Given the description of an element on the screen output the (x, y) to click on. 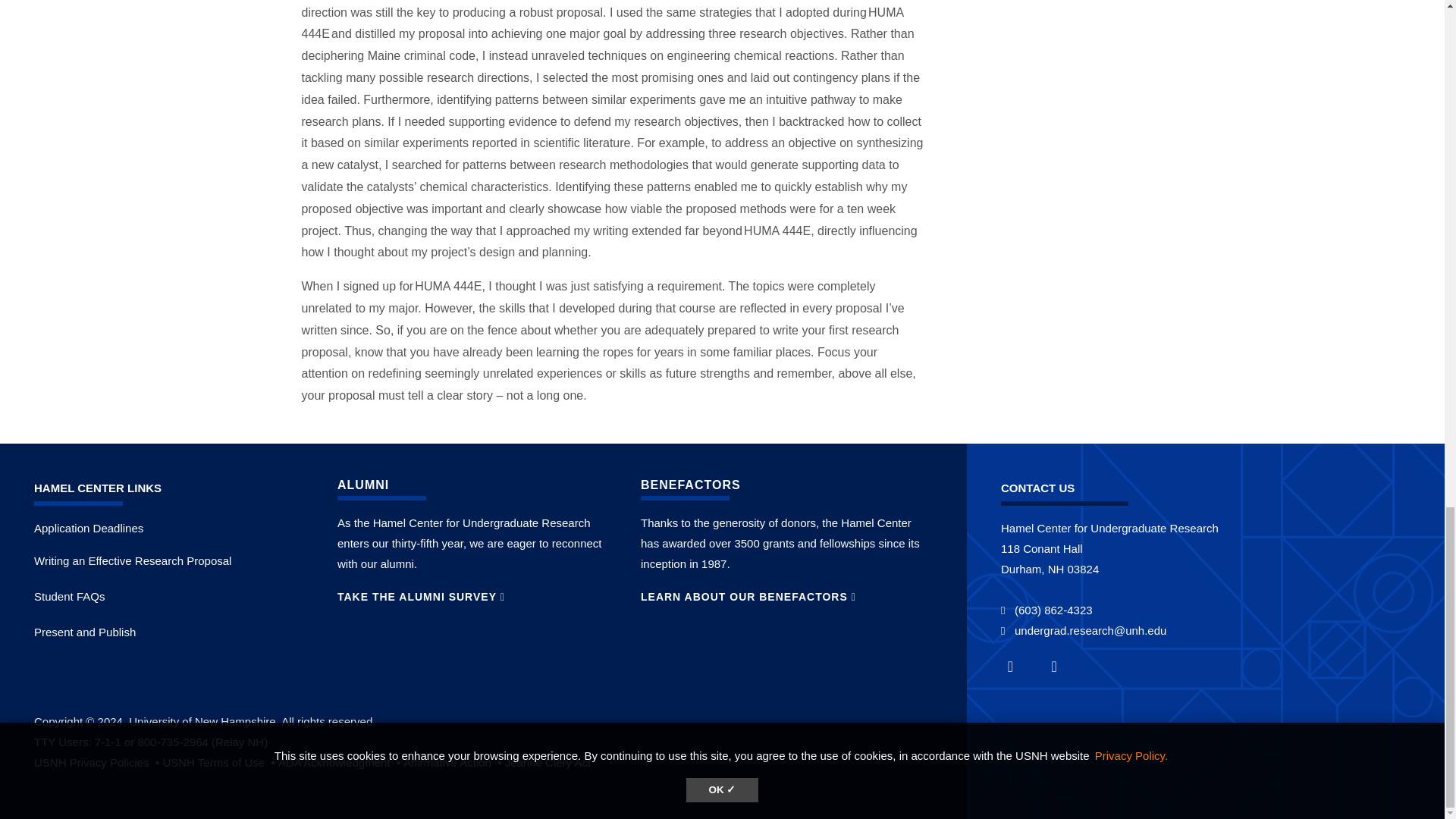
Benefactors (748, 596)
Learn more about ADA acknowledgement (340, 762)
Student FAQs (68, 595)
Learn (219, 762)
Application Deadlines (87, 527)
Writing an Effective Research Proposal (132, 560)
To Hamel Center Facebook (1018, 666)
Learn (97, 762)
Alumni survey (421, 596)
Learn (453, 762)
Learn (548, 762)
Present and Publish (84, 631)
